Given the description of an element on the screen output the (x, y) to click on. 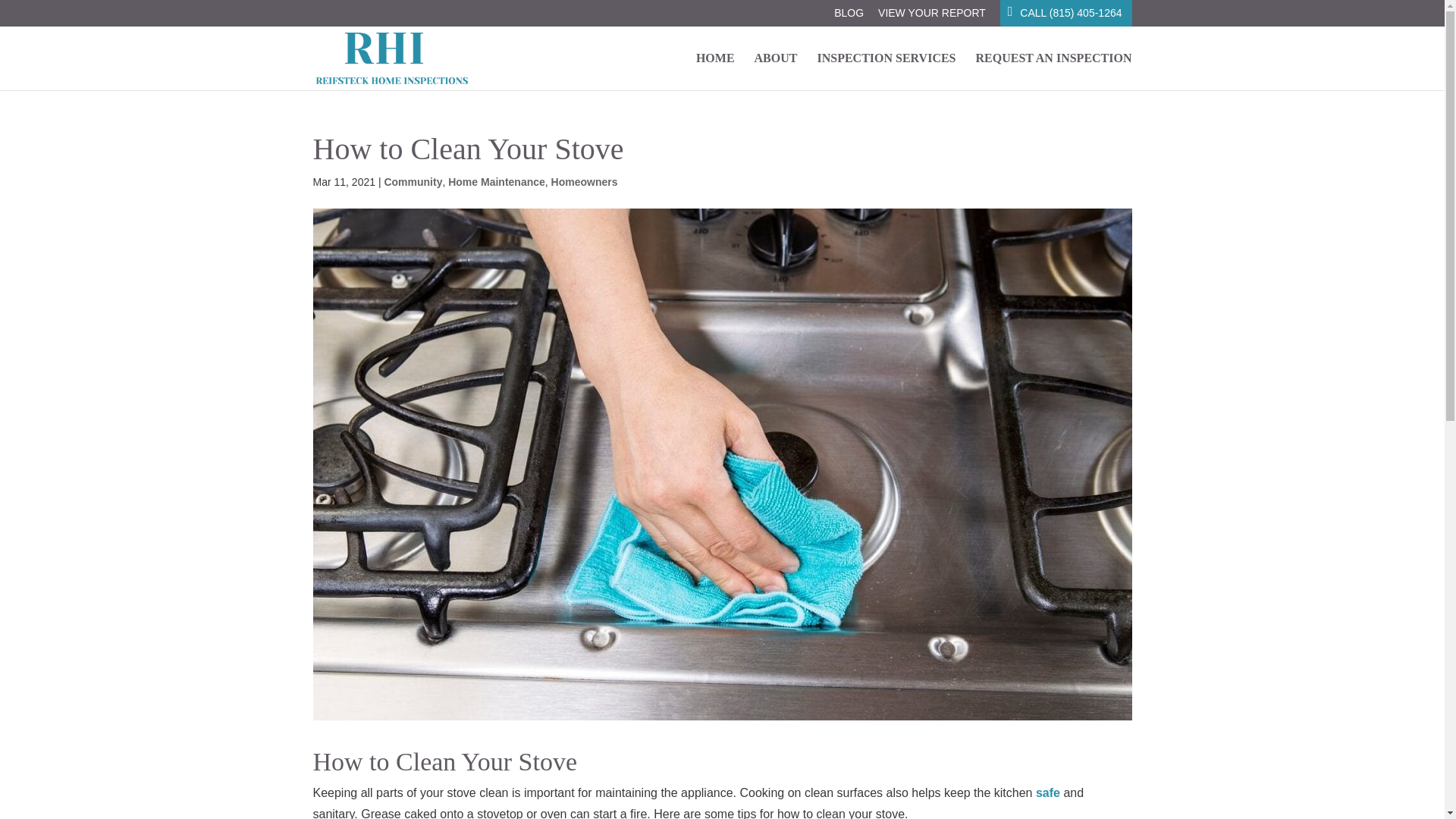
Homeowners (584, 182)
BLOG (848, 16)
ABOUT (775, 71)
Community (413, 182)
safe (1047, 792)
VIEW YOUR REPORT (931, 16)
REQUEST AN INSPECTION (1053, 71)
HOME (715, 71)
Home Maintenance (496, 182)
INSPECTION SERVICES (885, 71)
